Given the description of an element on the screen output the (x, y) to click on. 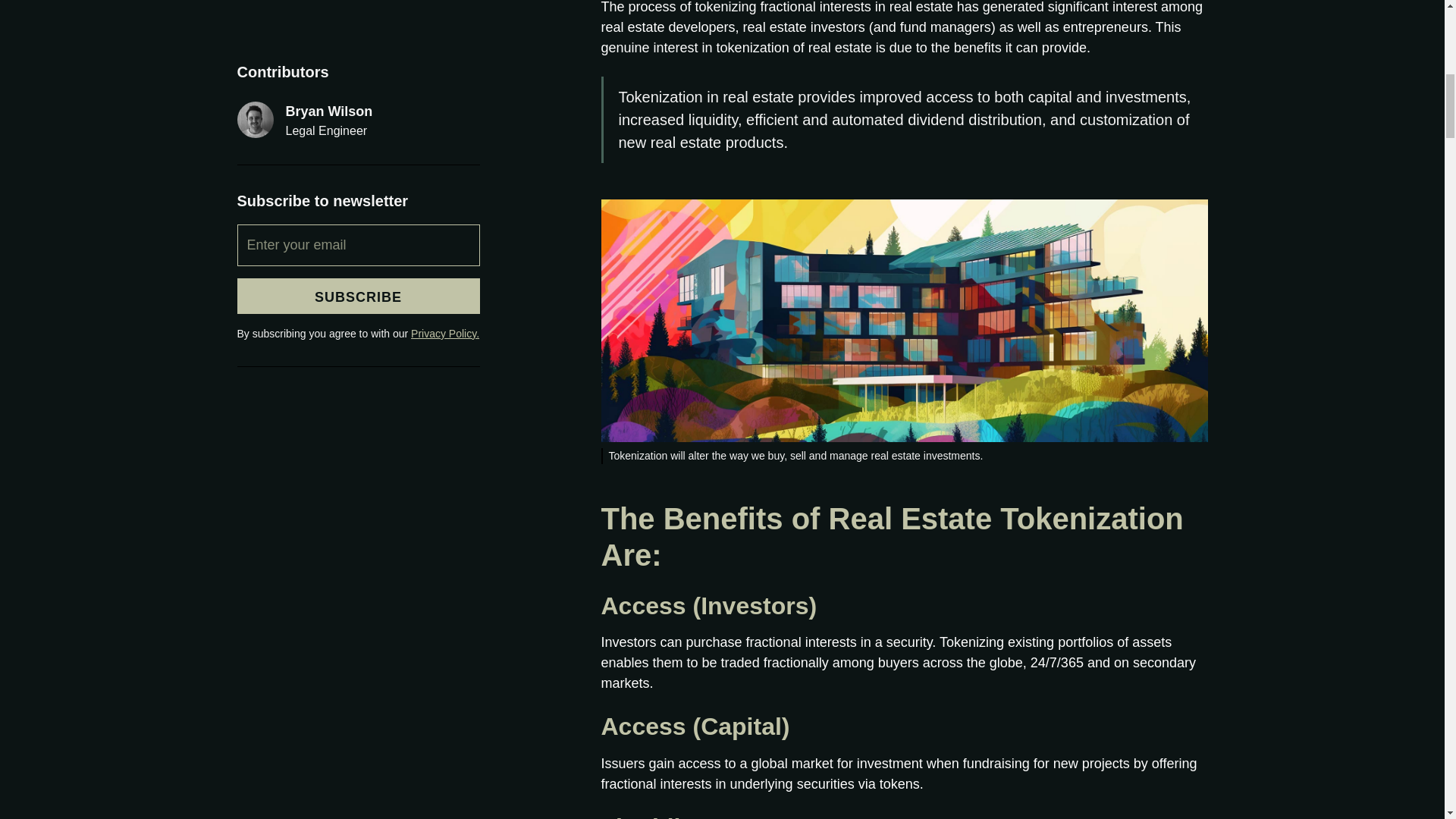
Subscribe (357, 44)
Subscribe (357, 44)
Privacy Policy. (444, 81)
